Given the description of an element on the screen output the (x, y) to click on. 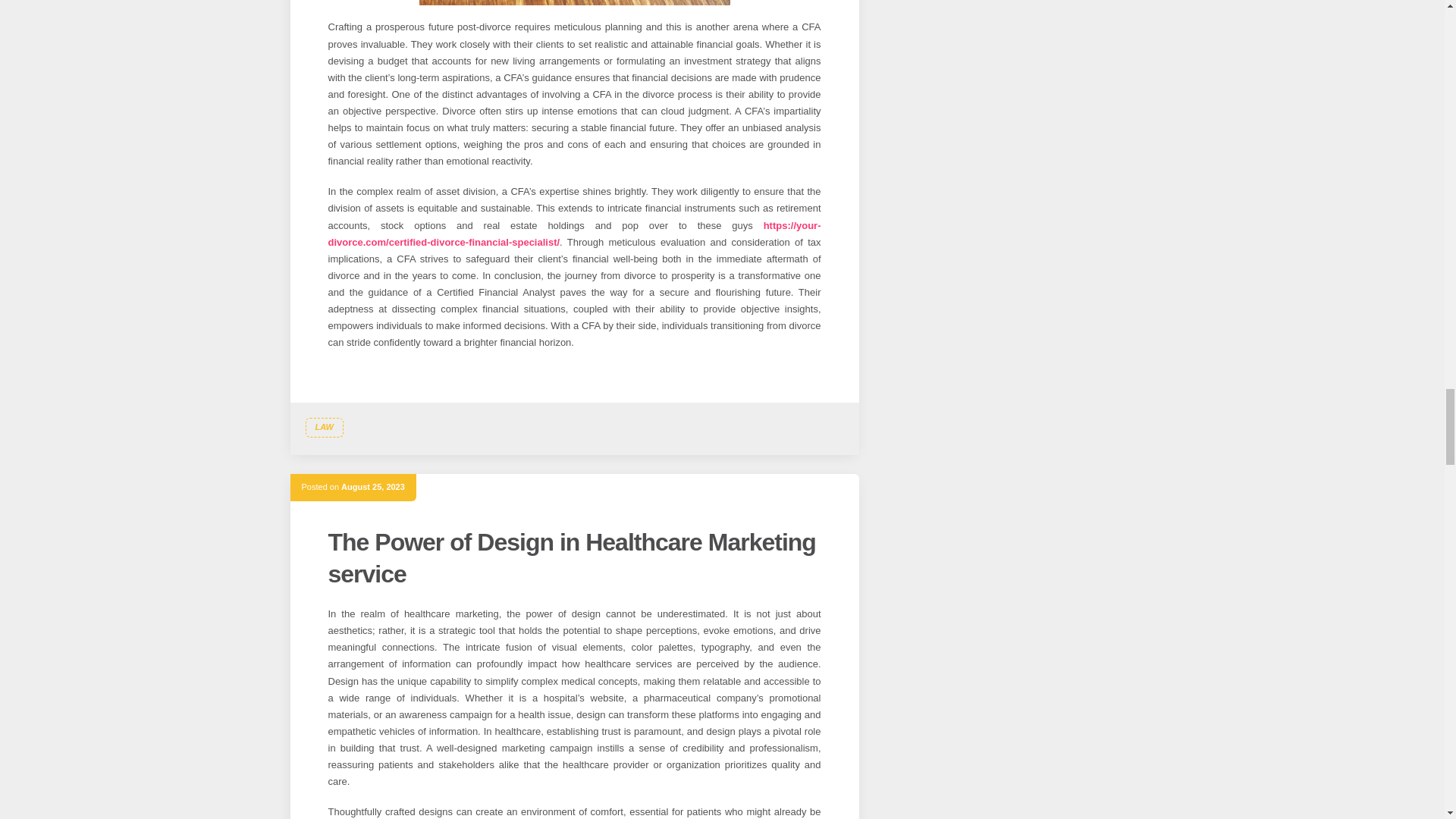
The Power of Design in Healthcare Marketing service (571, 558)
LAW (323, 427)
August 25, 2023 (372, 486)
